Given the description of an element on the screen output the (x, y) to click on. 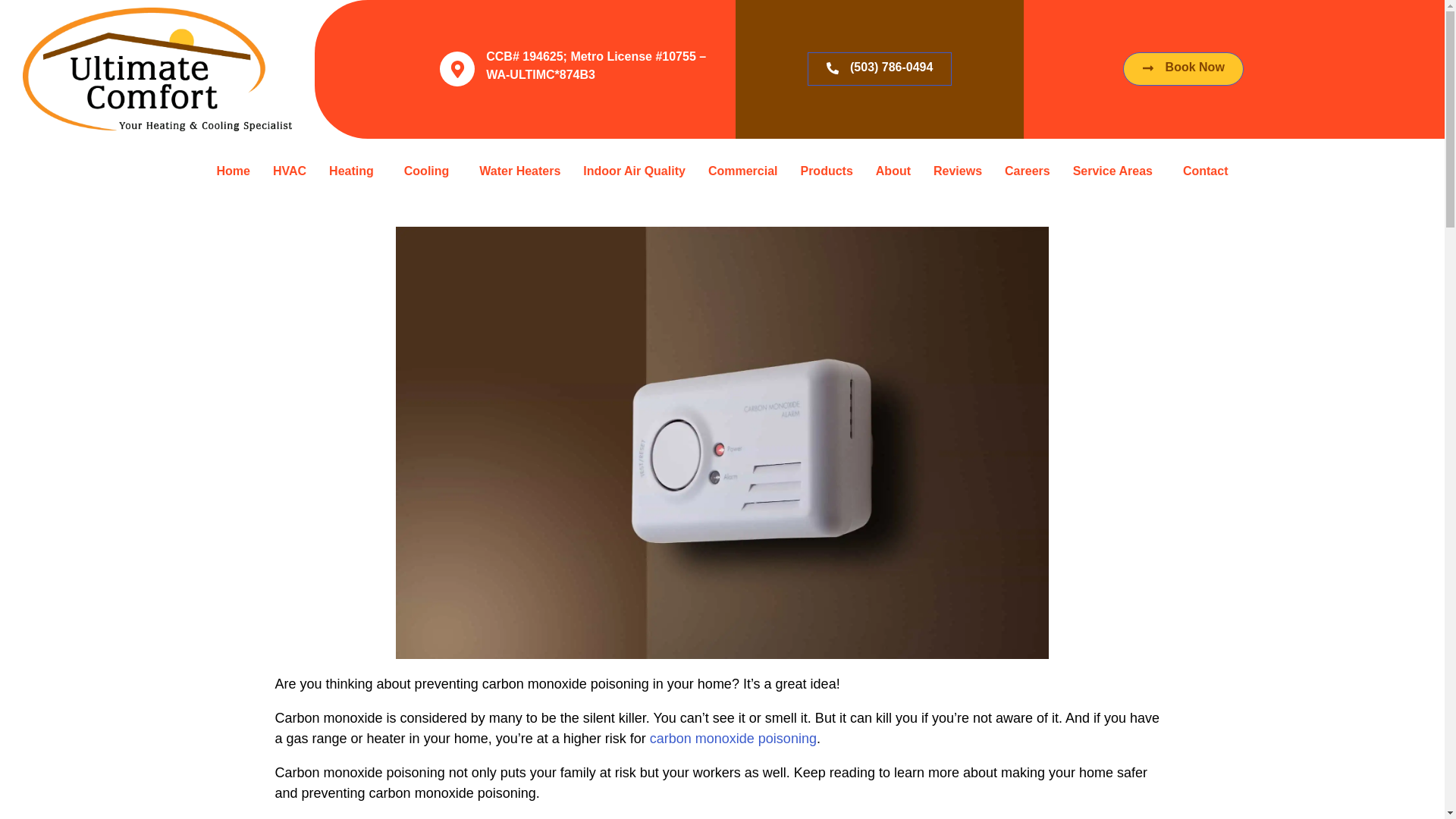
Cooling (430, 175)
Indoor Air Quality (634, 171)
Service Areas (1116, 171)
Contact (1206, 171)
About (892, 171)
Water Heaters (519, 171)
Heating (355, 187)
Book Now (1182, 165)
Products (826, 171)
Home (232, 196)
Commercial (743, 171)
Reviews (956, 171)
HVAC (289, 192)
Careers (1026, 171)
